Given the description of an element on the screen output the (x, y) to click on. 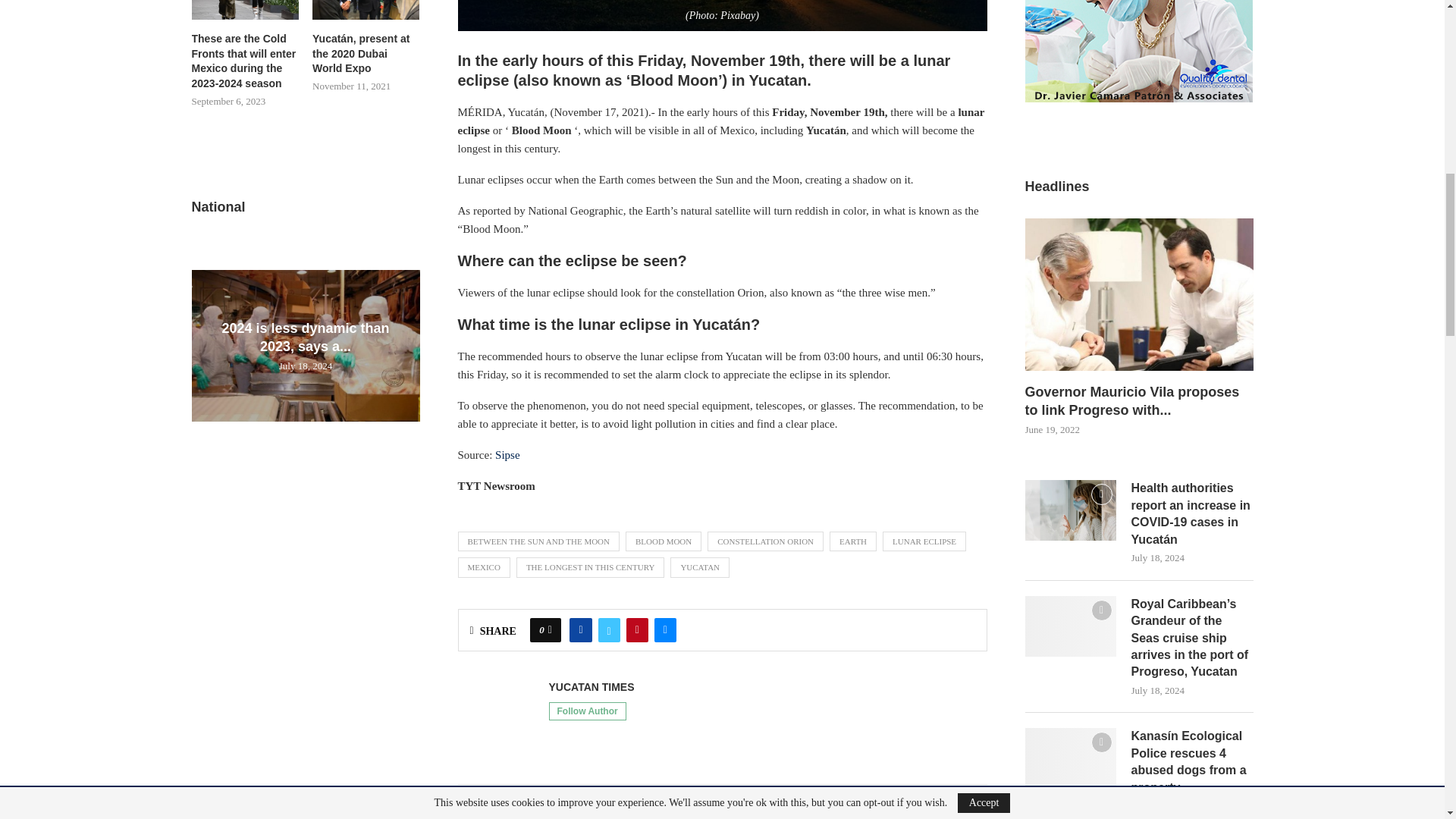
fechas-cuatro-eclipses-en-2021-nasa (722, 15)
Like (549, 630)
Author Yucatan Times (591, 687)
